Given the description of an element on the screen output the (x, y) to click on. 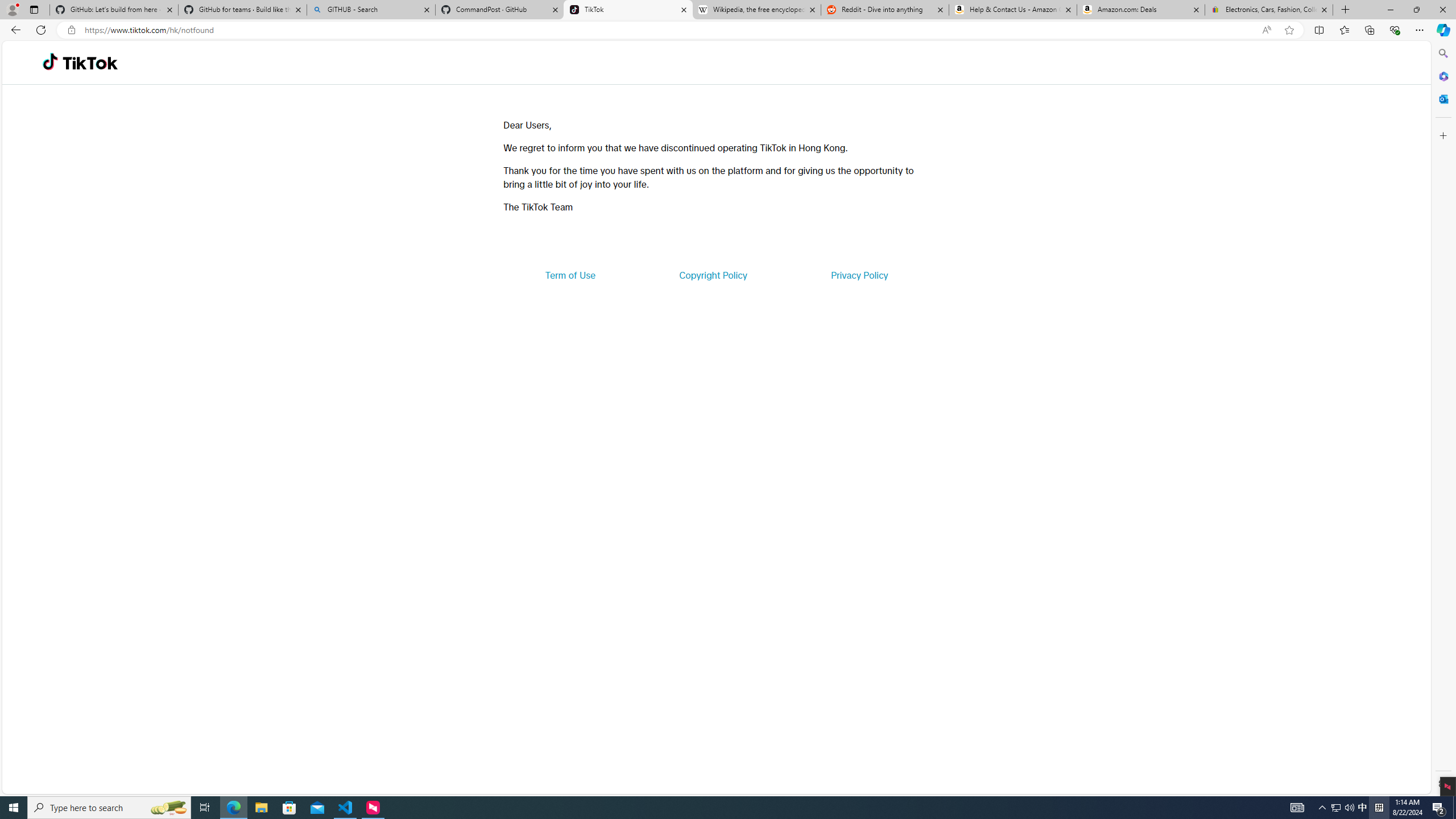
Reddit - Dive into anything (884, 9)
TikTok (628, 9)
Wikipedia, the free encyclopedia (756, 9)
